Given the description of an element on the screen output the (x, y) to click on. 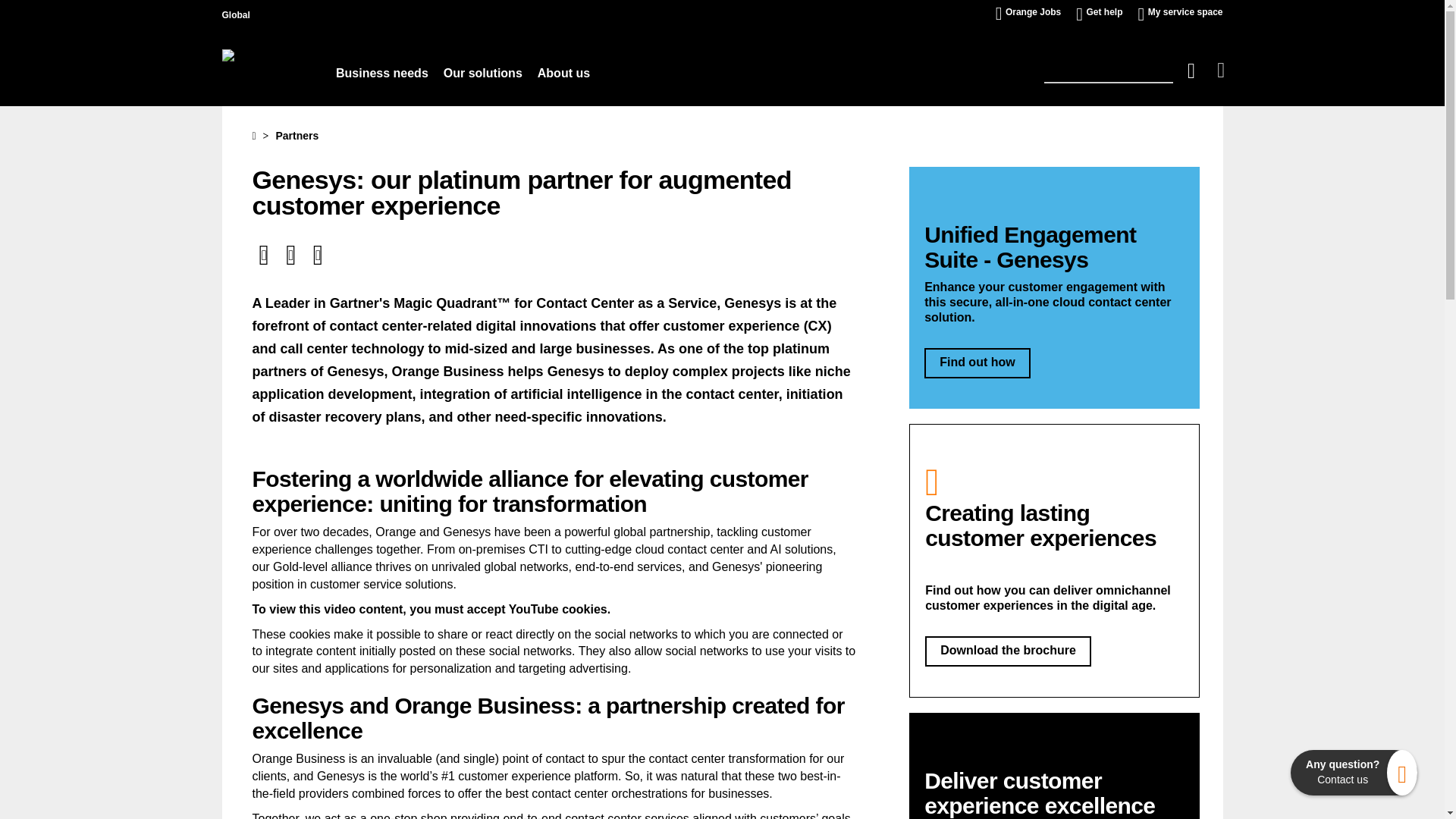
Share on linkedin (317, 254)
Share on twitter (265, 254)
My Service Space (1185, 11)
Get help (1104, 11)
Orange Business (243, 67)
Orange Jobs (1033, 11)
Share on facebook (292, 254)
